Given the description of an element on the screen output the (x, y) to click on. 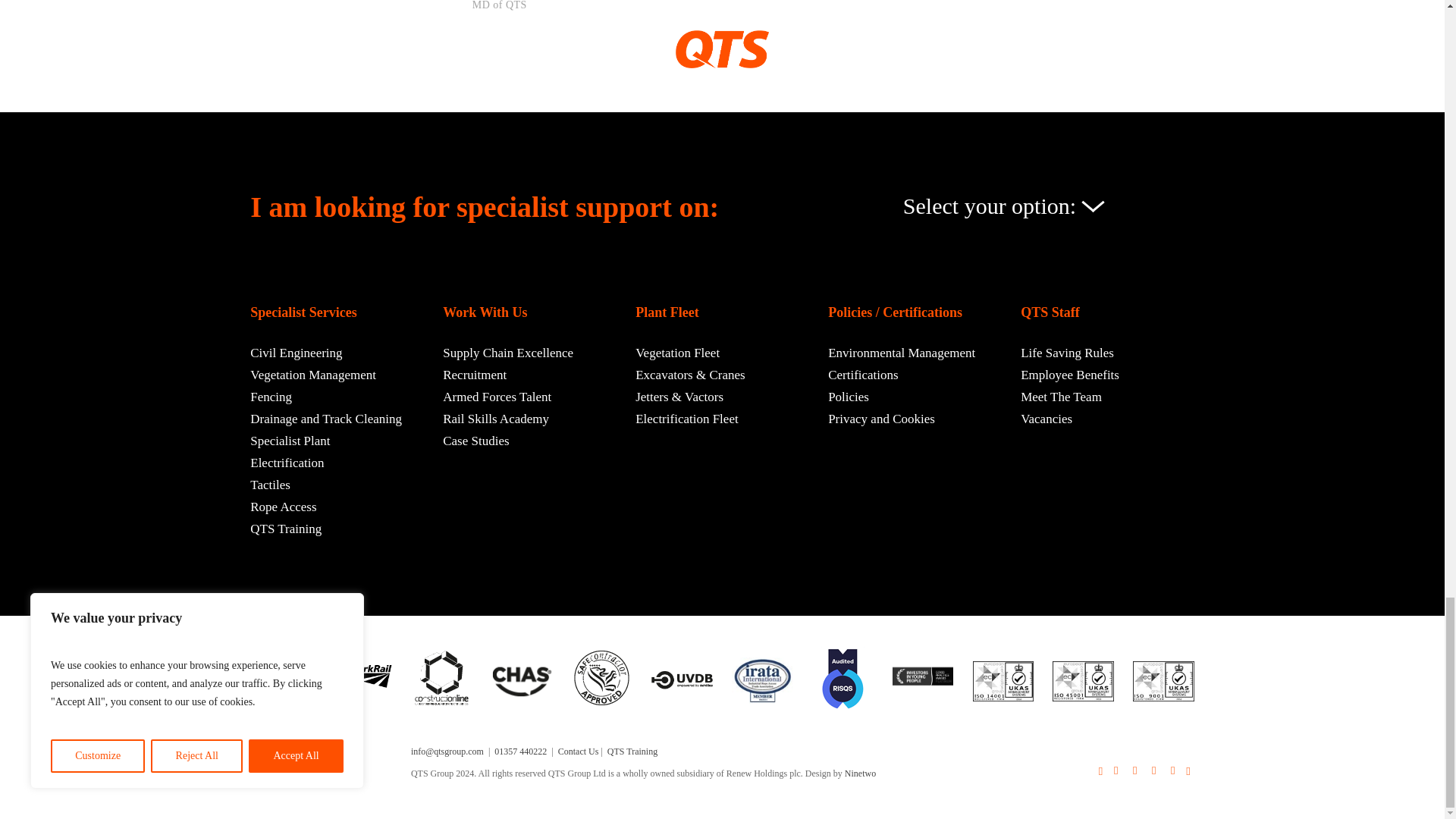
Civil Engineering (296, 352)
Specialist Plant (290, 440)
Select your option: (999, 206)
Drainage and Track Cleaning (325, 418)
Fencing (271, 396)
Specialist Services (303, 312)
Vegetation Management (312, 374)
